Given the description of an element on the screen output the (x, y) to click on. 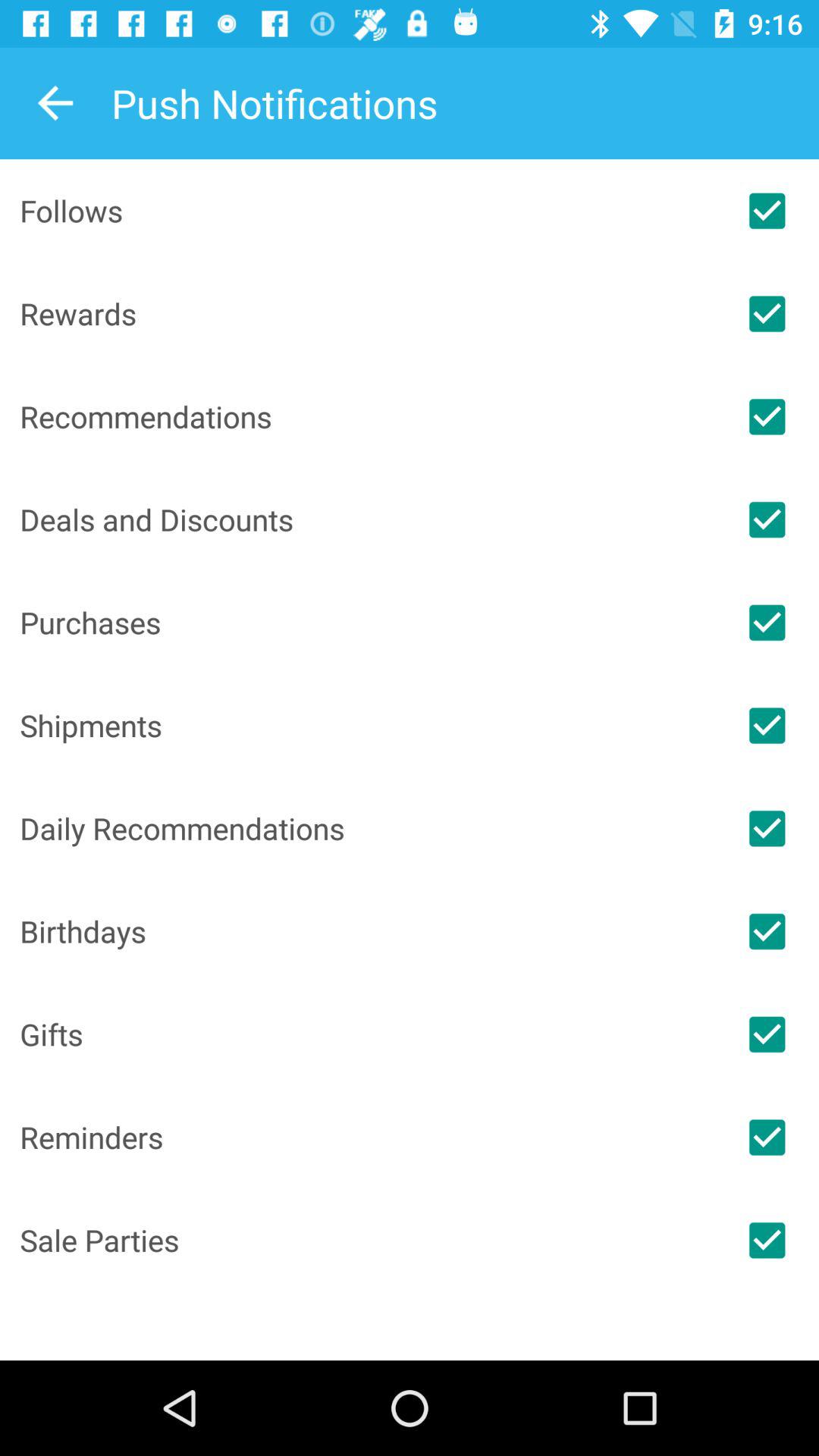
toggle notifications for followers (767, 210)
